Given the description of an element on the screen output the (x, y) to click on. 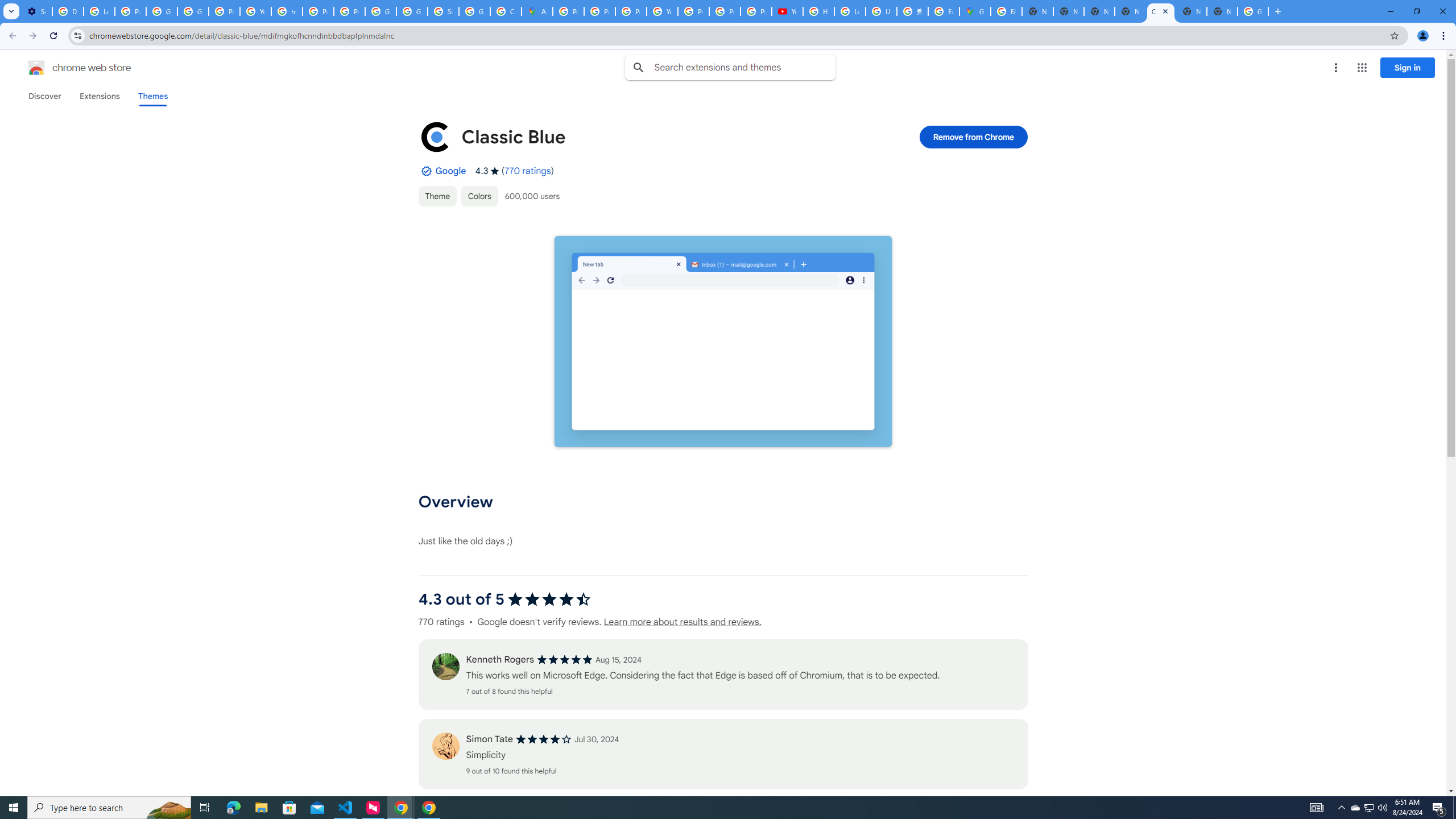
Remove from Chrome (973, 136)
Search input (744, 67)
Chrome Web Store logo chrome web store (67, 67)
How Chrome protects your passwords - Google Chrome Help (818, 11)
Themes (152, 95)
Settings - On startup (36, 11)
4 out of 5 stars (543, 739)
Learn more about results and reviews. (681, 622)
